Given the description of an element on the screen output the (x, y) to click on. 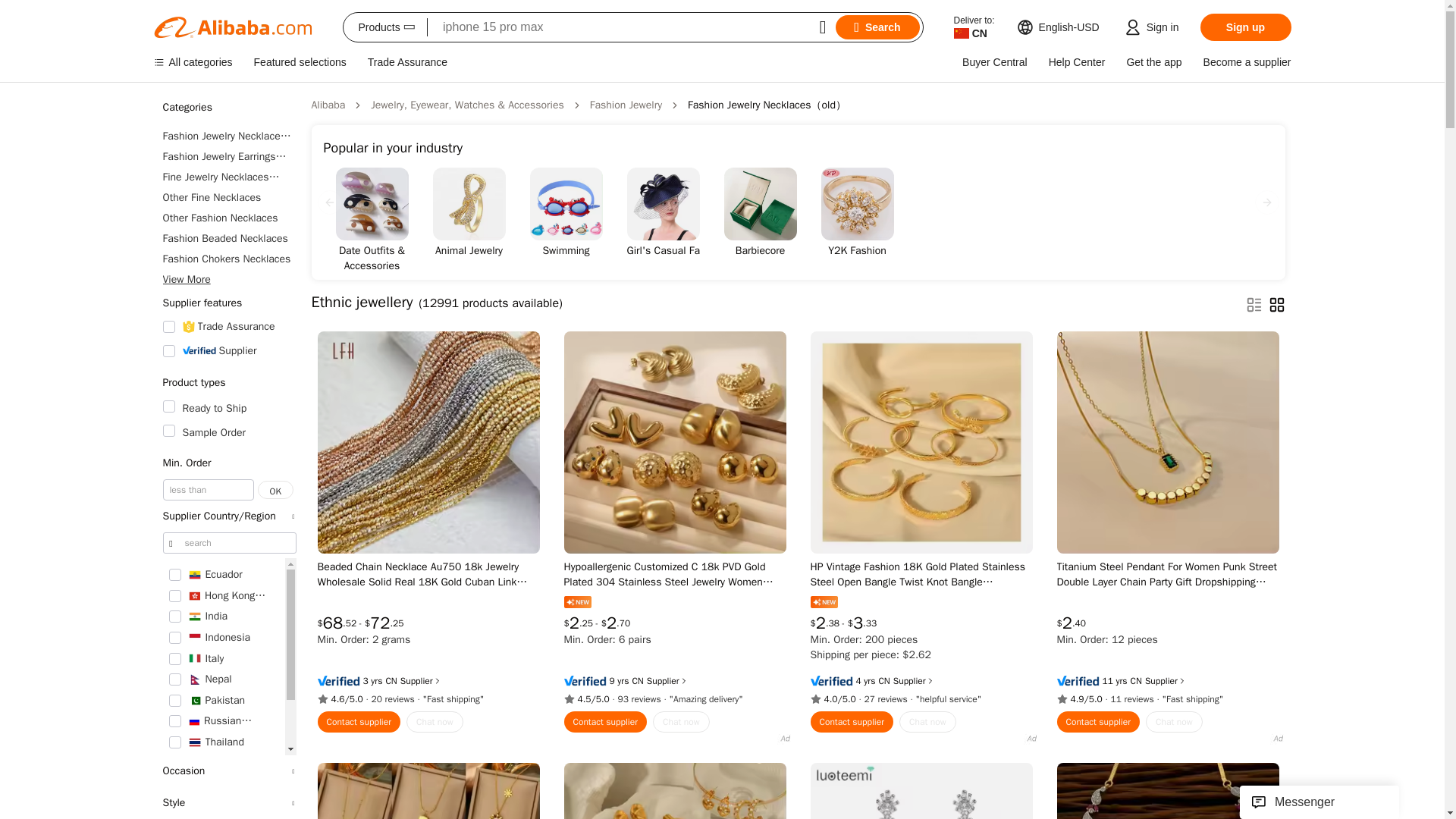
Categories (228, 107)
